Given the description of an element on the screen output the (x, y) to click on. 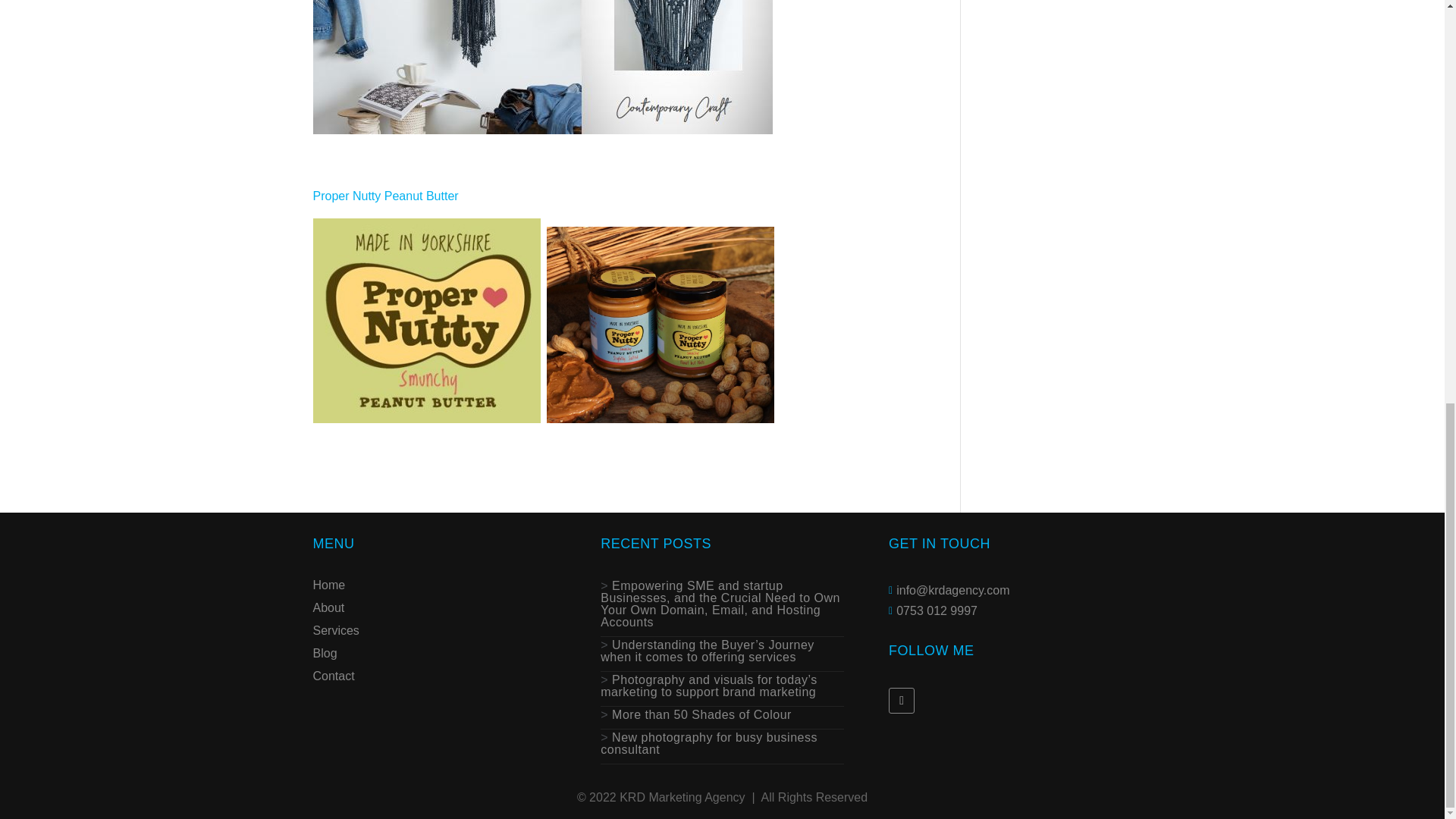
Follow on LinkedIn (901, 700)
Proper Nutty Peanut Butter (385, 195)
Services (335, 633)
About (328, 610)
Contact (333, 678)
Home (329, 588)
Blog (324, 656)
Proper Nutty Peanut Butter (385, 195)
Blog (324, 656)
